Given the description of an element on the screen output the (x, y) to click on. 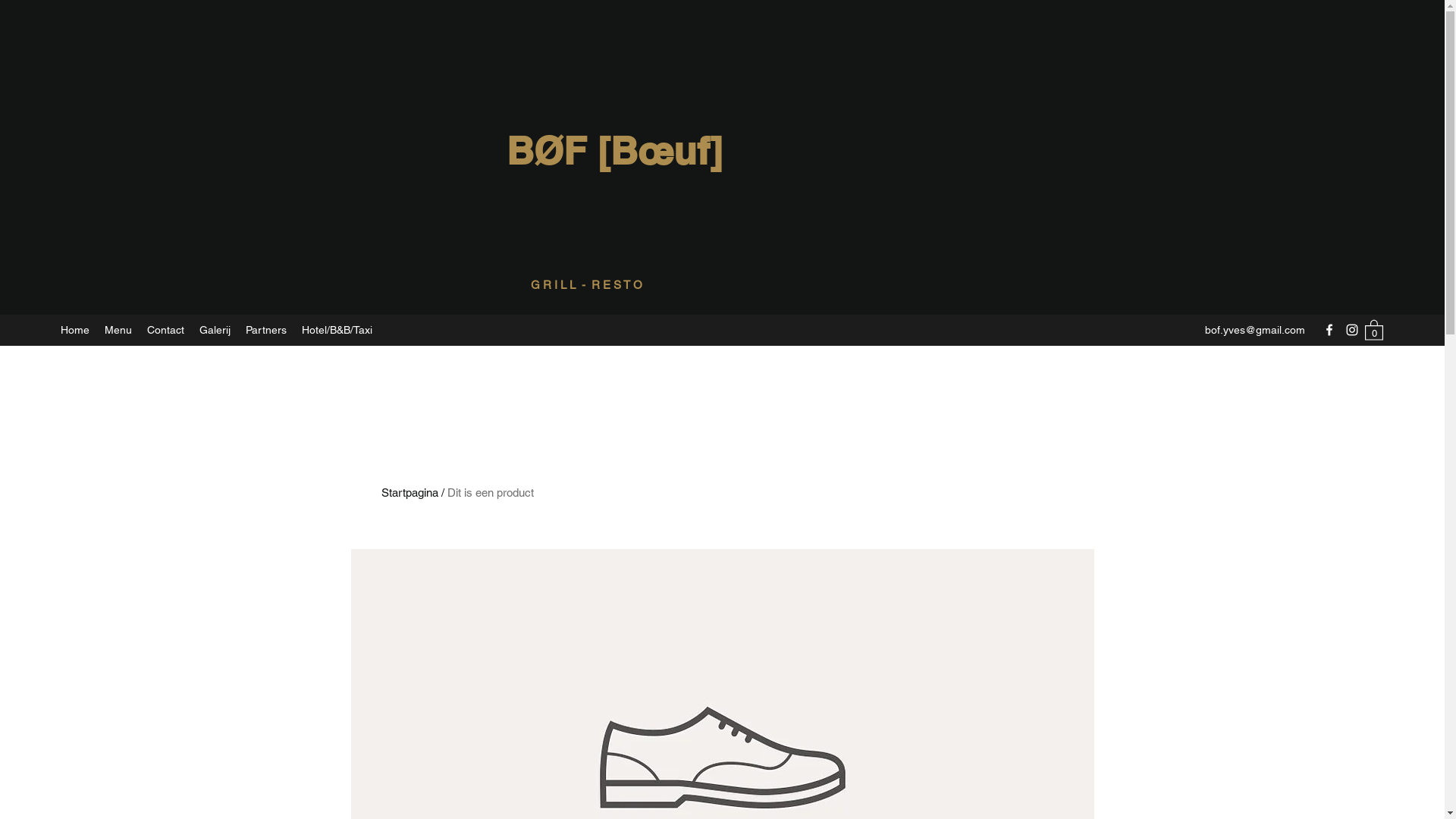
Dit is een product Element type: text (490, 492)
Hotel/B&B/Taxi Element type: text (336, 330)
Contact Element type: text (165, 330)
Menu Element type: text (118, 330)
Startpagina Element type: text (408, 492)
Home Element type: text (75, 330)
bof.yves@gmail.com Element type: text (1254, 329)
Galerij Element type: text (214, 330)
Partners Element type: text (266, 330)
0 Element type: text (1374, 329)
